Given the description of an element on the screen output the (x, y) to click on. 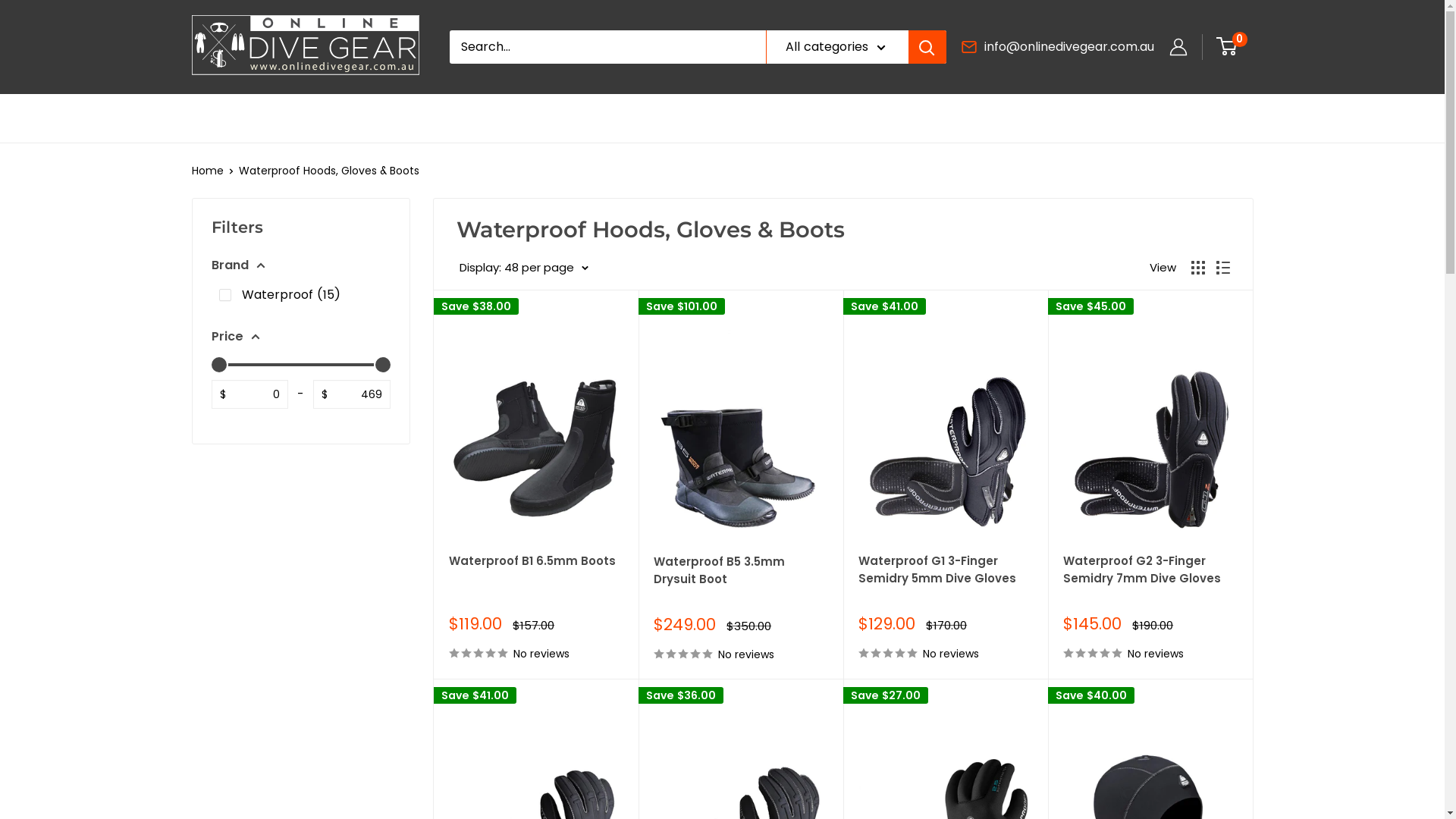
No reviews Element type: text (535, 652)
Waterproof G2 3-Finger Semidry 7mm Dive Gloves Element type: text (1150, 578)
Price Element type: text (299, 336)
Waterproof B5 3.5mm Drysuit Boot Element type: text (740, 578)
Display: 48 per page Element type: text (523, 267)
Waterproof B1 6.5mm Boots Element type: text (535, 578)
No reviews Element type: text (1150, 652)
0 Element type: text (1235, 46)
Home Element type: text (206, 170)
Waterproof G1 3-Finger Semidry 5mm Dive Gloves Element type: text (945, 578)
Brand Element type: text (299, 265)
No reviews Element type: text (945, 652)
info@onlinedivegear.com.au Element type: text (1069, 46)
No reviews Element type: text (740, 653)
Waterproof Hoods, Gloves & Boots Element type: text (328, 170)
